Given the description of an element on the screen output the (x, y) to click on. 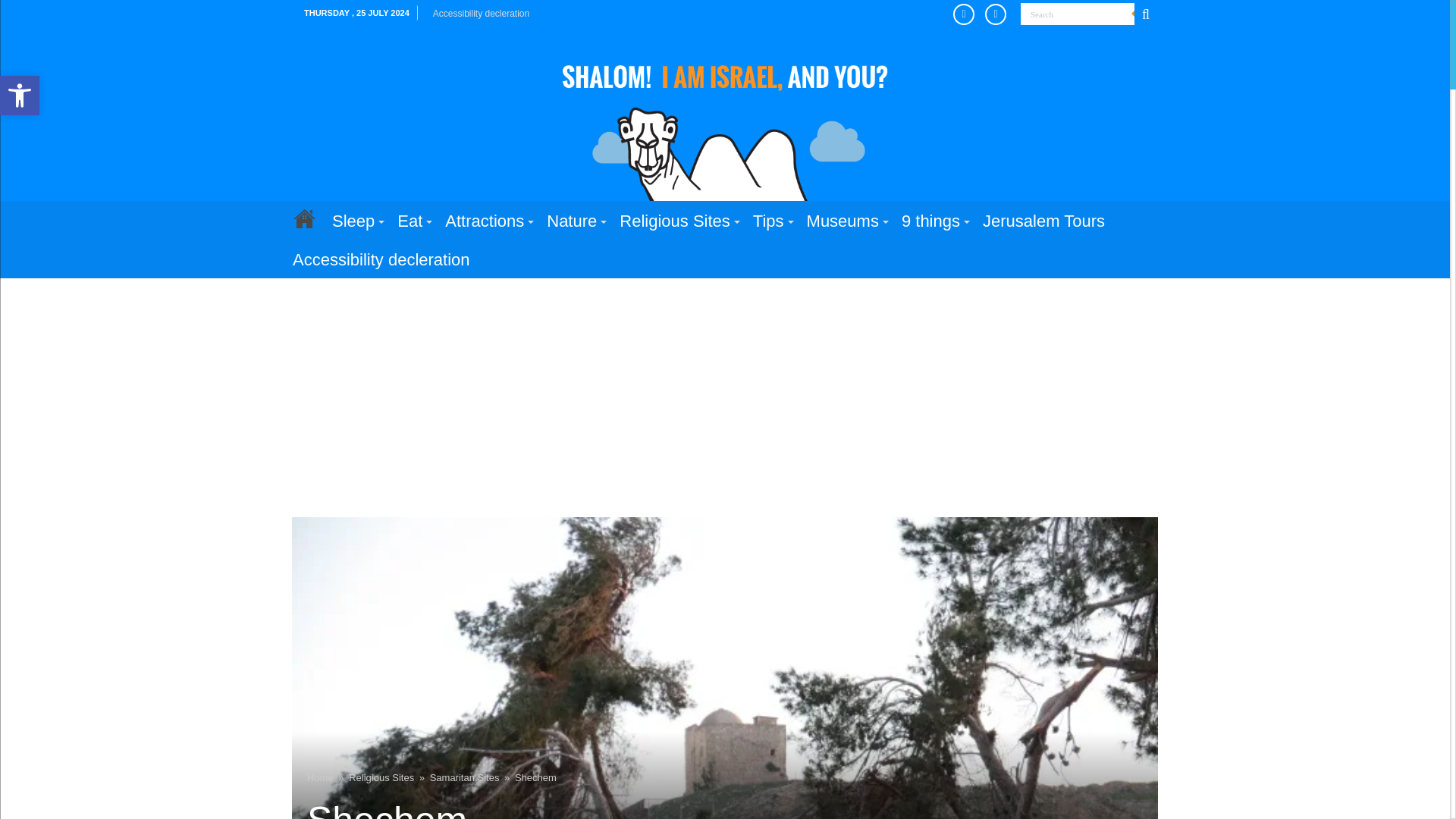
Accessibility Tools (19, 95)
Accessibility decleration (19, 95)
Accessibility Tools (481, 13)
Search (19, 95)
Facebook (1077, 14)
Twitter (967, 14)
Search (999, 14)
